Given the description of an element on the screen output the (x, y) to click on. 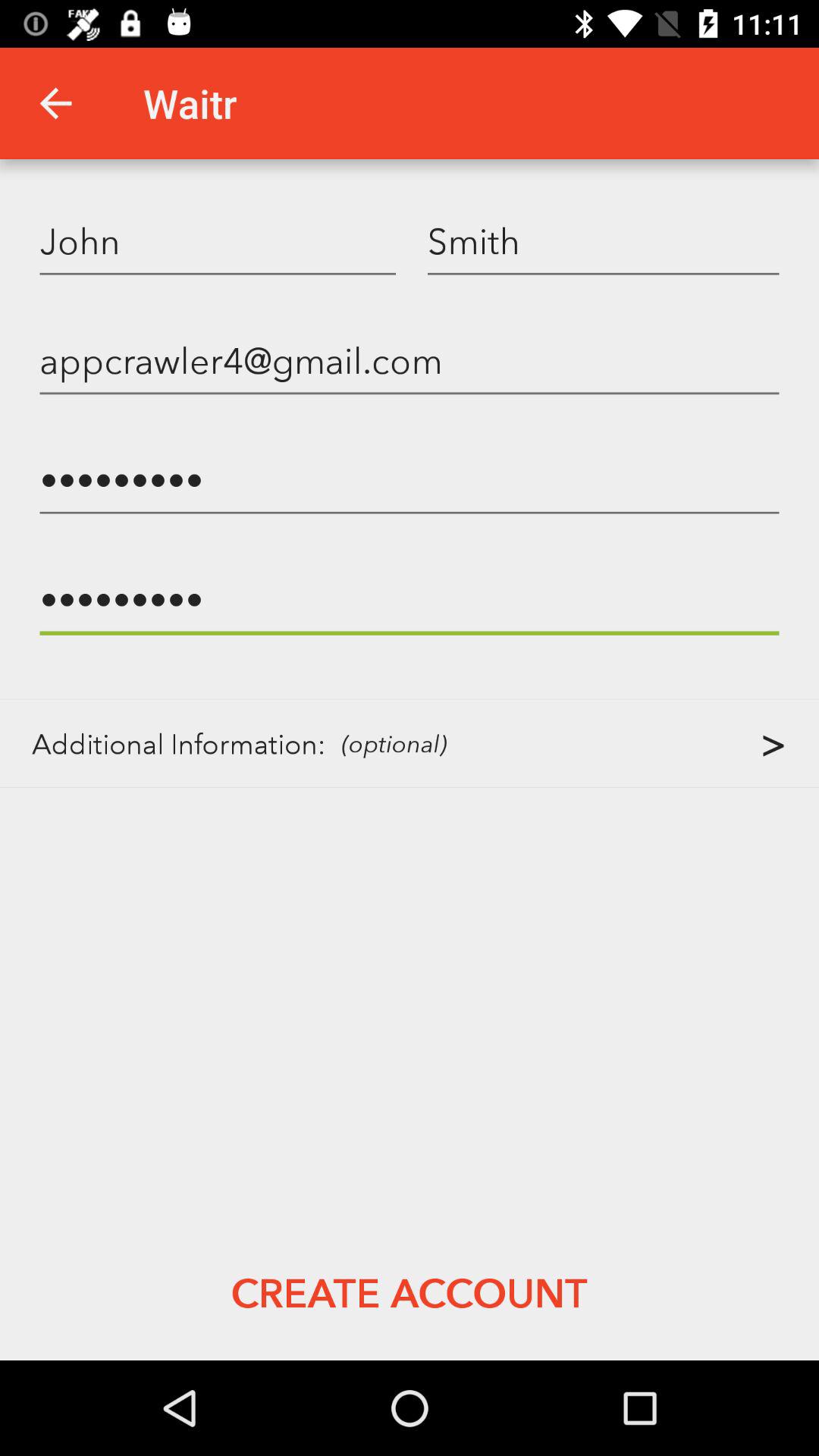
jump until john (217, 240)
